Given the description of an element on the screen output the (x, y) to click on. 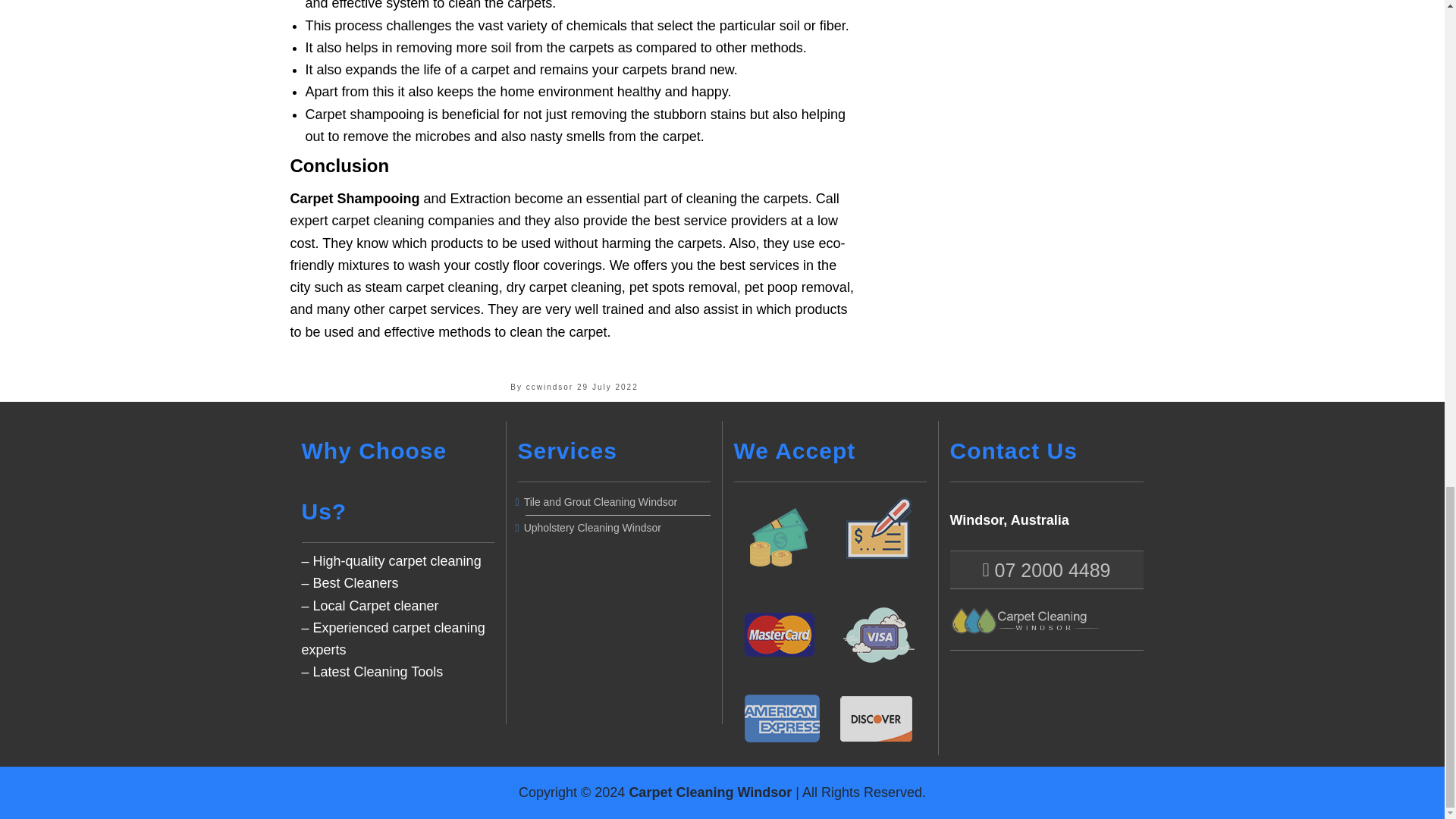
 07 2000 4489 (1045, 569)
Tile and Grout Cleaning Windsor (617, 502)
Upholstery Cleaning Windsor (617, 527)
Carpet Cleaning Windsor (710, 792)
